Given the description of an element on the screen output the (x, y) to click on. 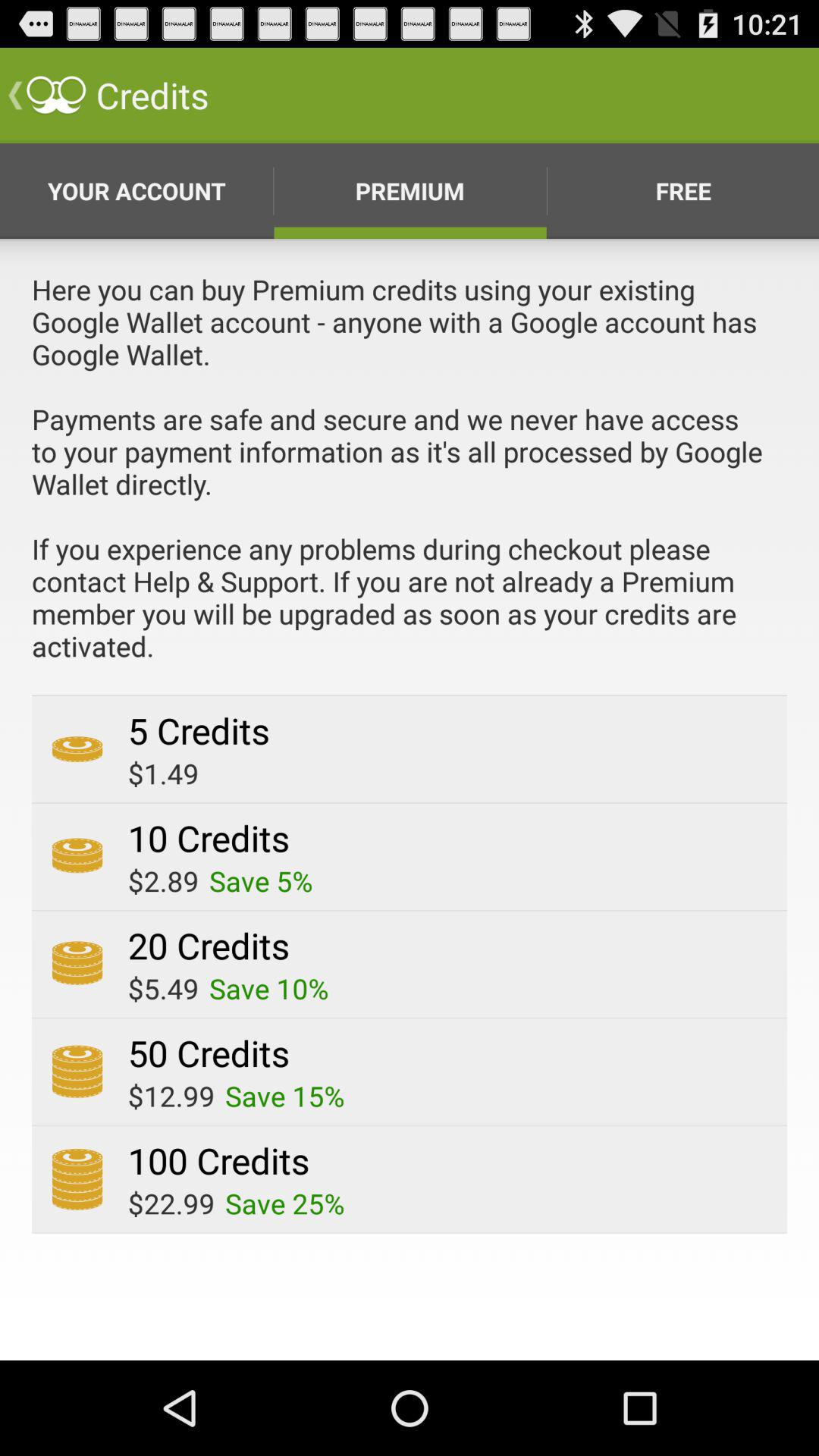
turn on app next to $5.49 app (268, 988)
